Given the description of an element on the screen output the (x, y) to click on. 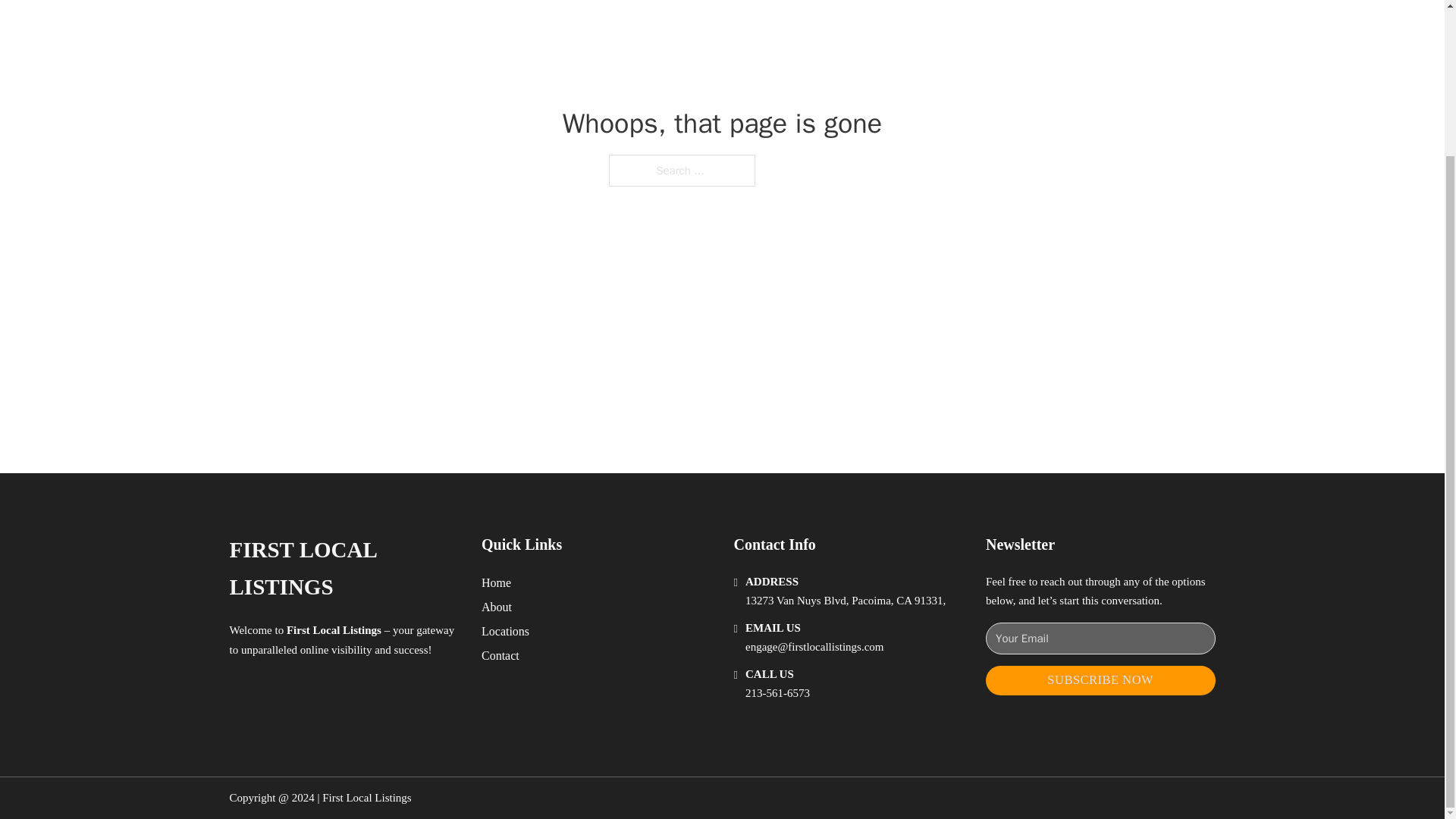
SUBSCRIBE NOW (1100, 680)
213-561-6573 (777, 693)
Locations (505, 630)
Home (496, 582)
FIRST LOCAL LISTINGS (343, 568)
About (496, 607)
Contact (500, 655)
